Given the description of an element on the screen output the (x, y) to click on. 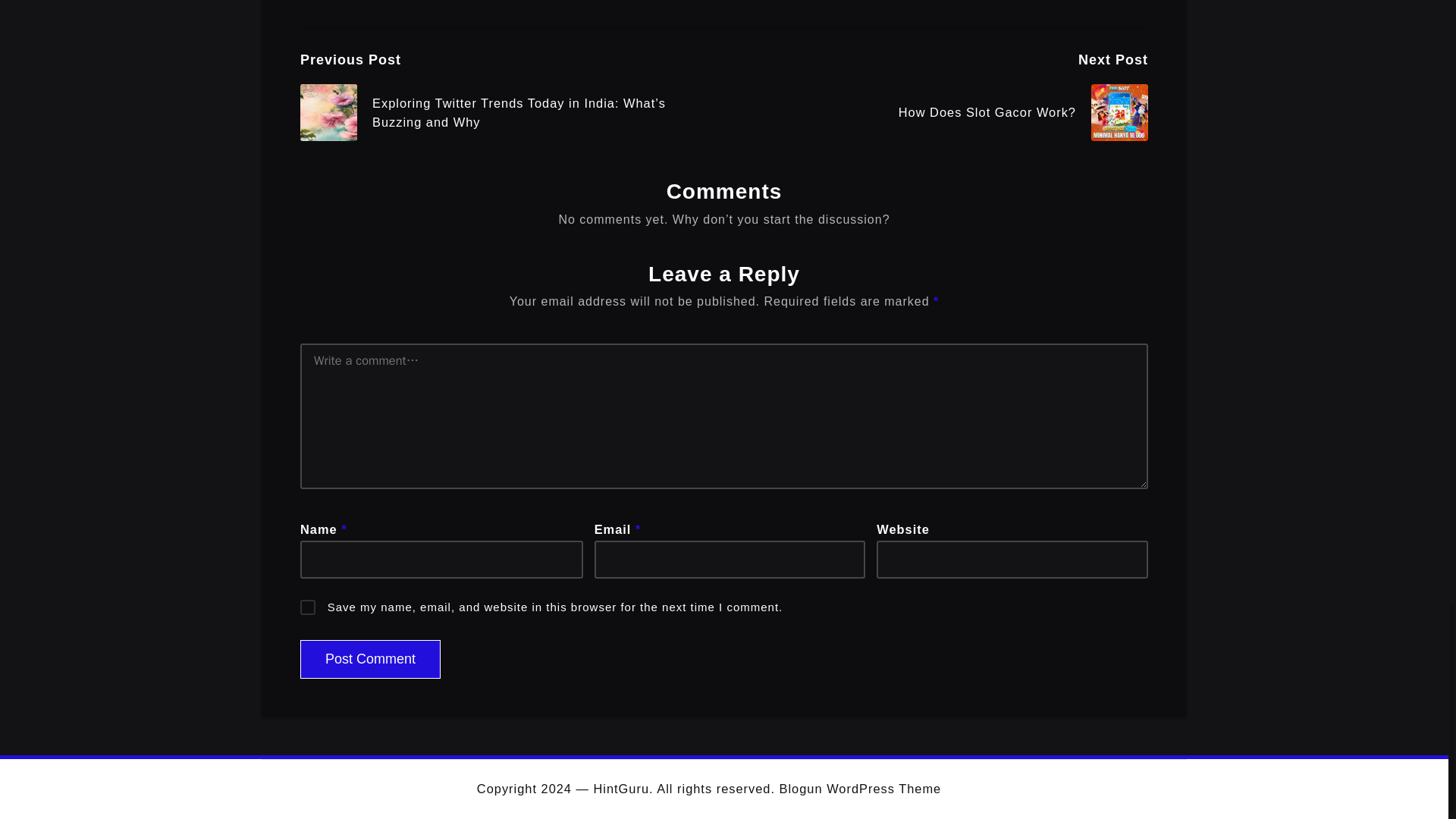
How Does Slot Gacor Work? (935, 112)
yes (307, 607)
Post Comment (370, 658)
Post Comment (370, 658)
